Given the description of an element on the screen output the (x, y) to click on. 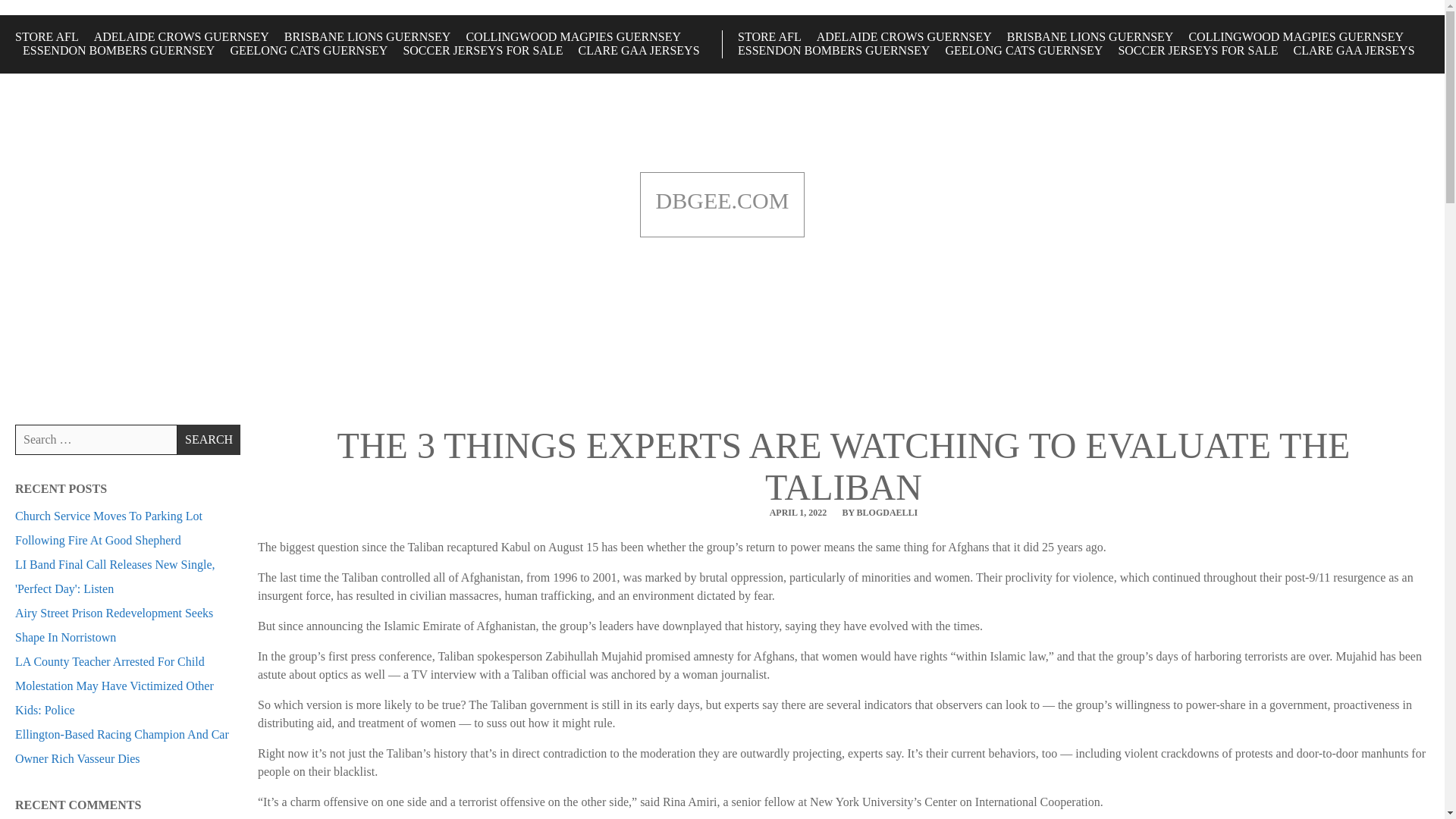
STORE AFL (46, 36)
ESSENDON BOMBERS GUERNSEY (118, 50)
Airy Street Prison Redevelopment Seeks Shape In Norristown (113, 624)
CLARE GAA JERSEYS (1354, 50)
ADELAIDE CROWS GUERNSEY (181, 36)
dbgee.com (722, 201)
DBGEE.COM (722, 201)
ADELAIDE CROWS GUERNSEY (903, 36)
COLLINGWOOD MAGPIES GUERNSEY (573, 36)
Search (208, 440)
STORE AFL (770, 36)
GEELONG CATS GUERNSEY (308, 50)
